Given the description of an element on the screen output the (x, y) to click on. 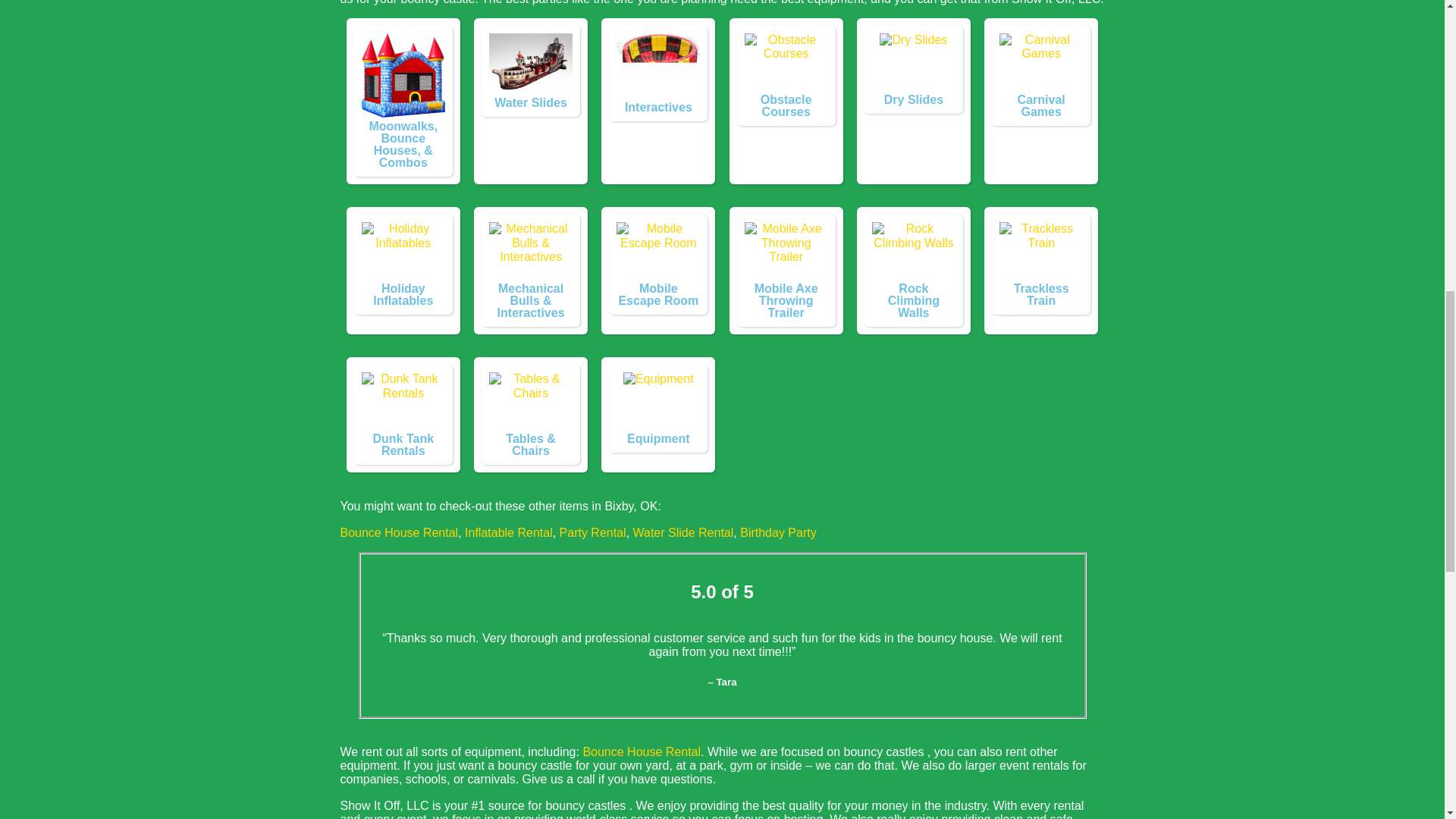
Interactives (657, 65)
Dunk Tank Rentals (403, 402)
Mobile Axe Throwing Trailer (786, 251)
Mobile Escape Room (657, 251)
Water Slides (530, 63)
Equipment (658, 402)
Holiday Inflatables (403, 251)
Carnival Games (1040, 63)
Trackless Train (1040, 251)
Rock Climbing Walls (913, 251)
